Given the description of an element on the screen output the (x, y) to click on. 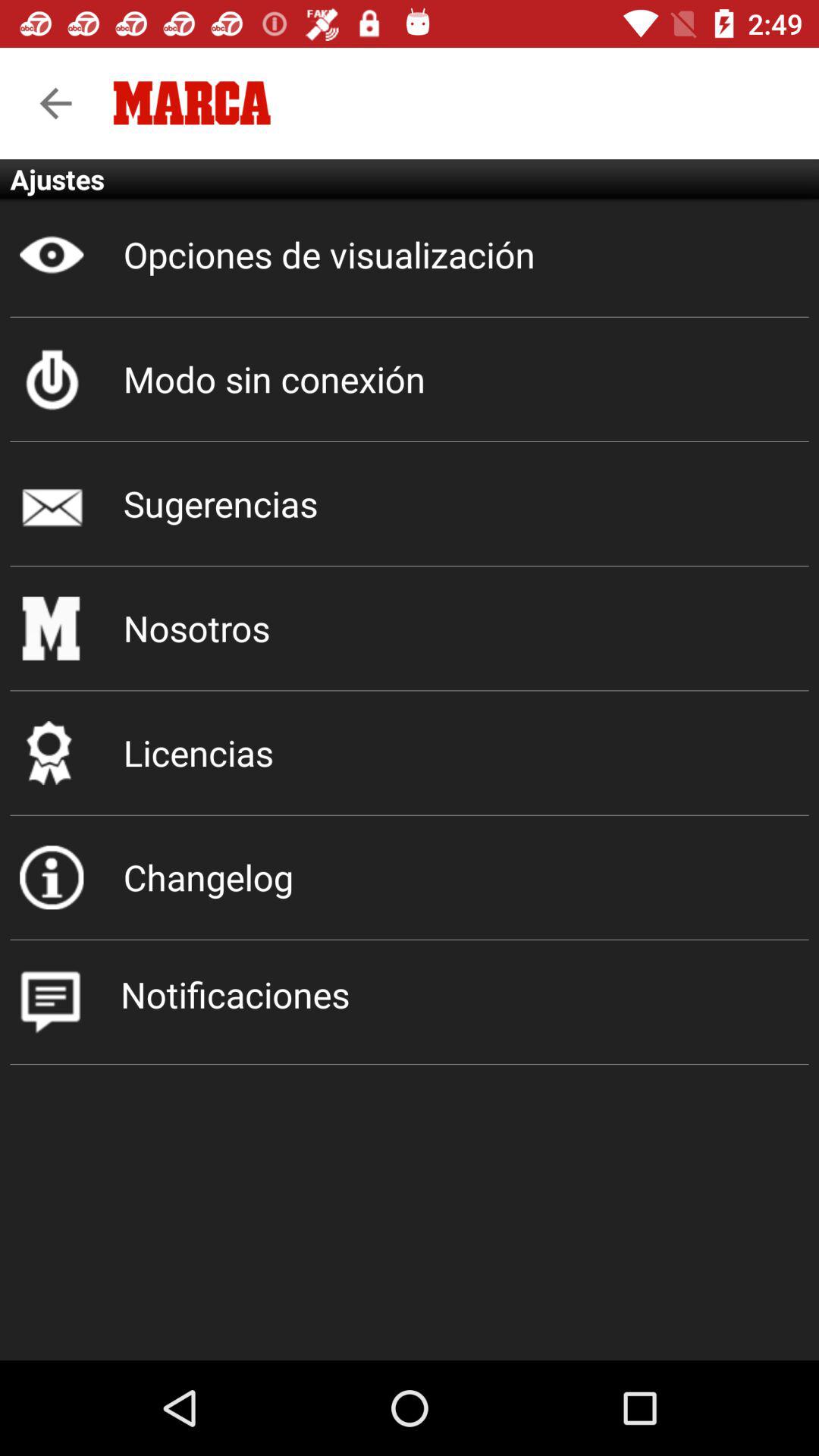
flip until the licencias item (409, 752)
